Given the description of an element on the screen output the (x, y) to click on. 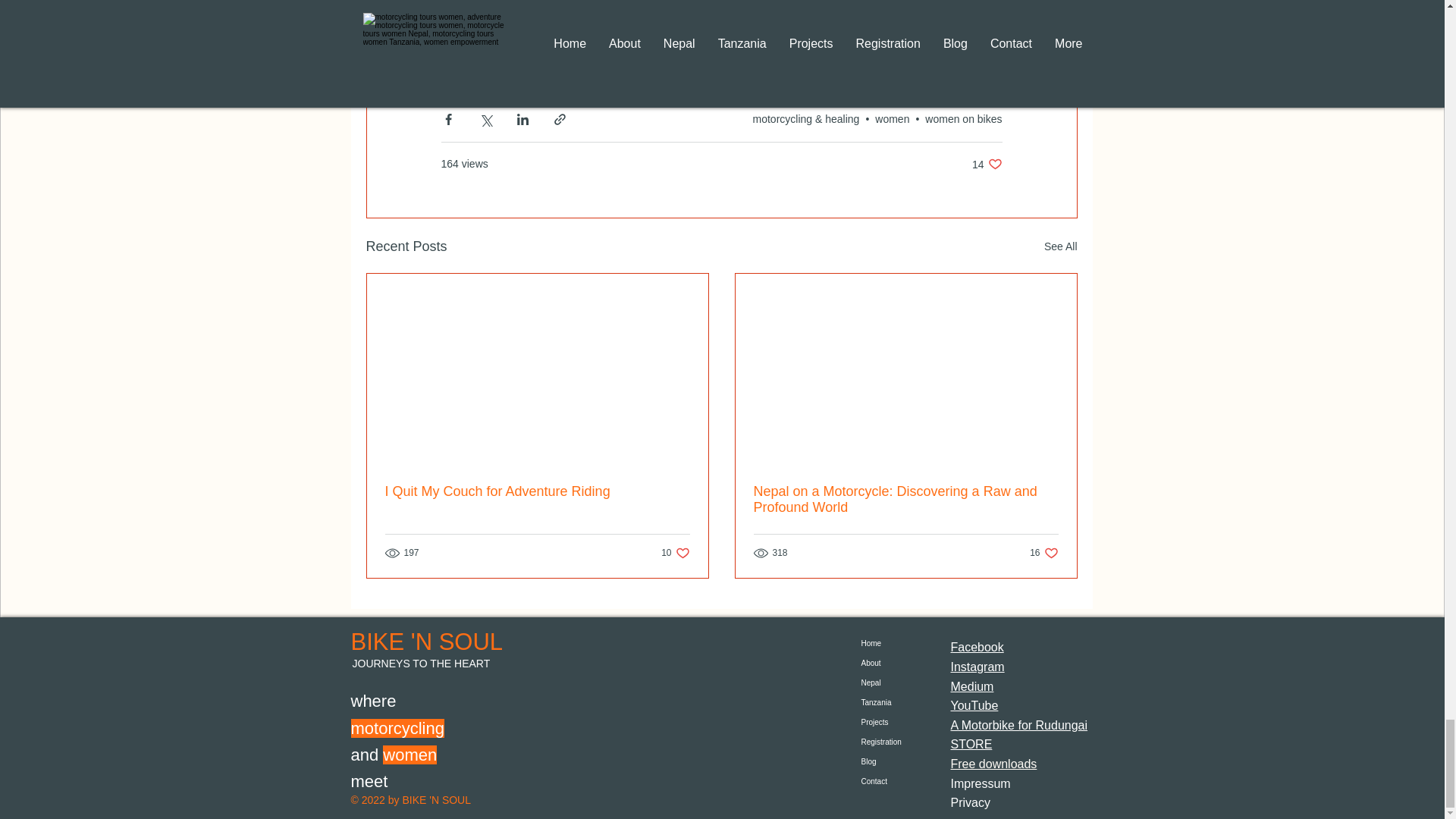
women and bikes (807, 29)
BIKE 'N SOUL (426, 641)
See All (1060, 246)
inspiration (550, 29)
women supporting women (524, 58)
women (473, 29)
Nepal on a Motorcycle: Discovering a Raw and Profound World (987, 164)
women on bikes (906, 499)
I Quit My Couch for Adventure Riding (674, 553)
Nepal (962, 119)
women (537, 491)
About (887, 682)
courage (891, 119)
